Given the description of an element on the screen output the (x, y) to click on. 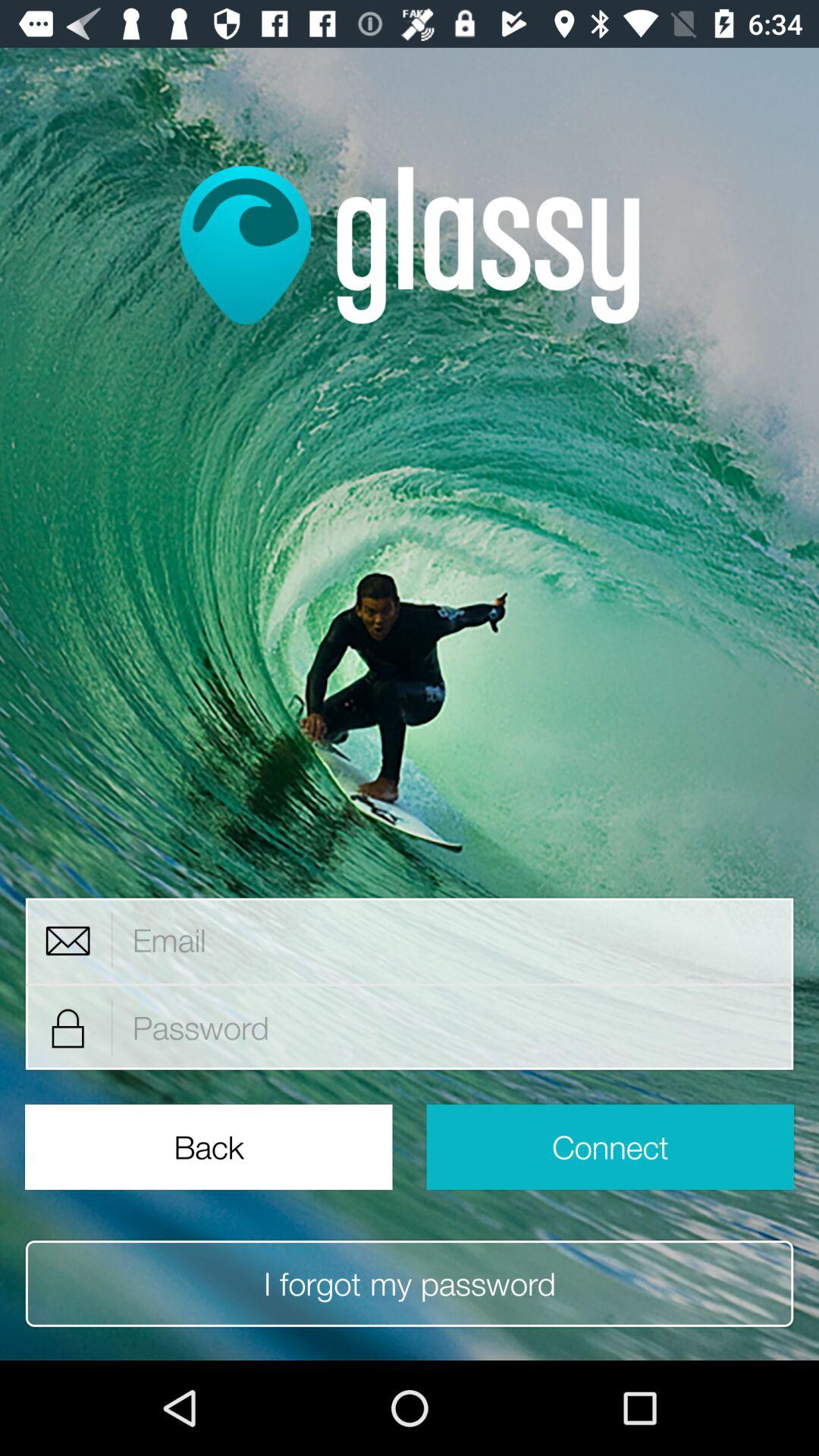
area to input password (453, 1027)
